Given the description of an element on the screen output the (x, y) to click on. 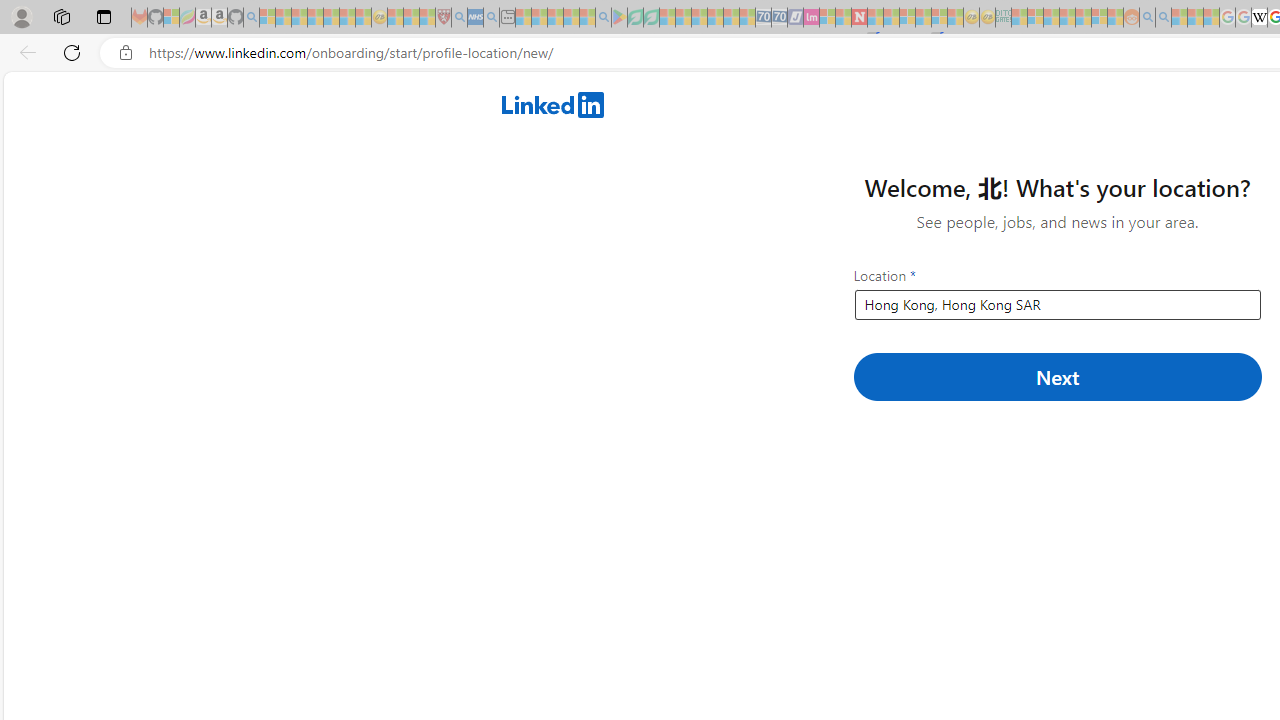
Cheap Hotels - Save70.com - Sleeping (779, 17)
